Given the description of an element on the screen output the (x, y) to click on. 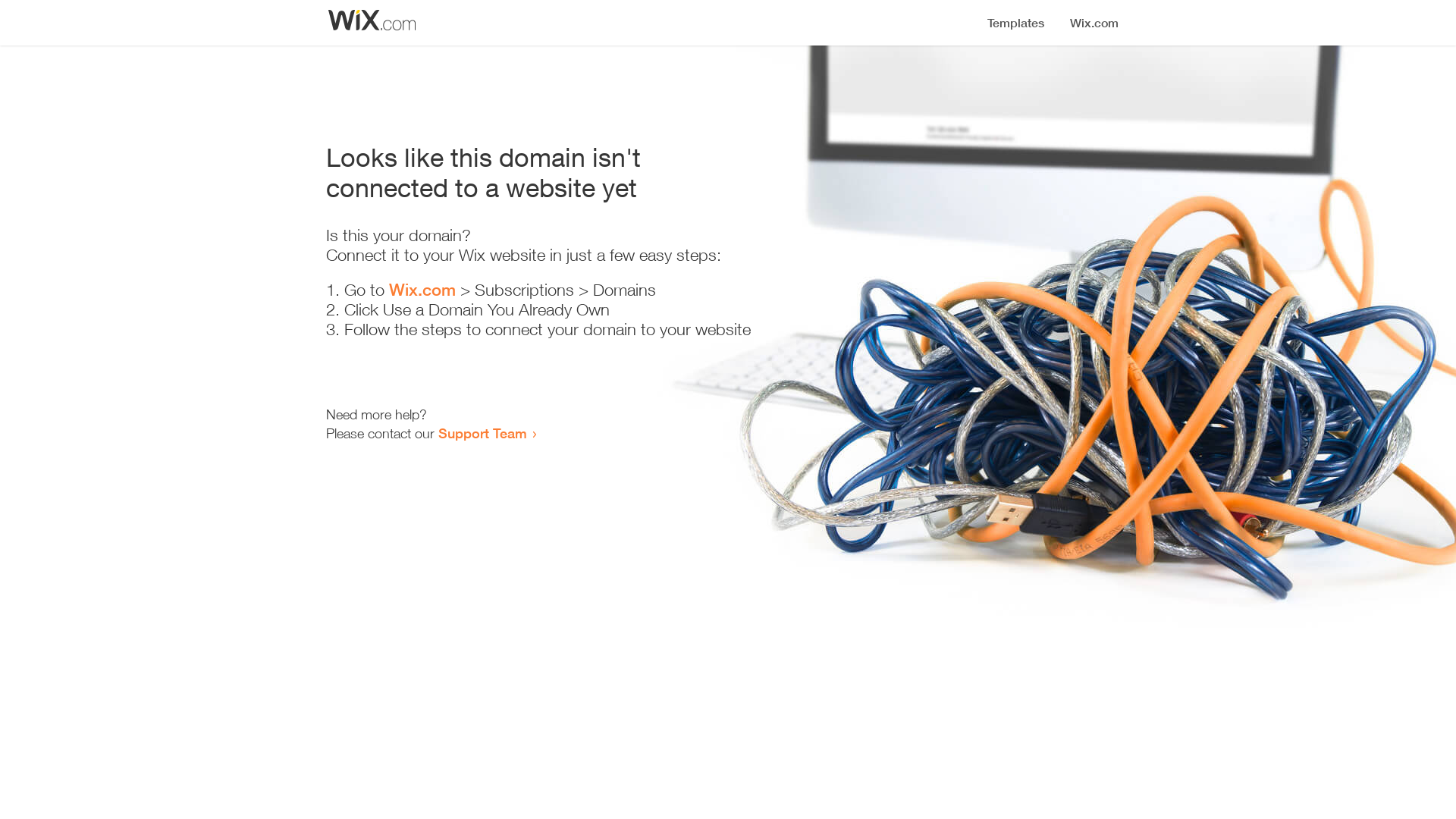
Wix.com Element type: text (422, 289)
Support Team Element type: text (482, 432)
